Given the description of an element on the screen output the (x, y) to click on. 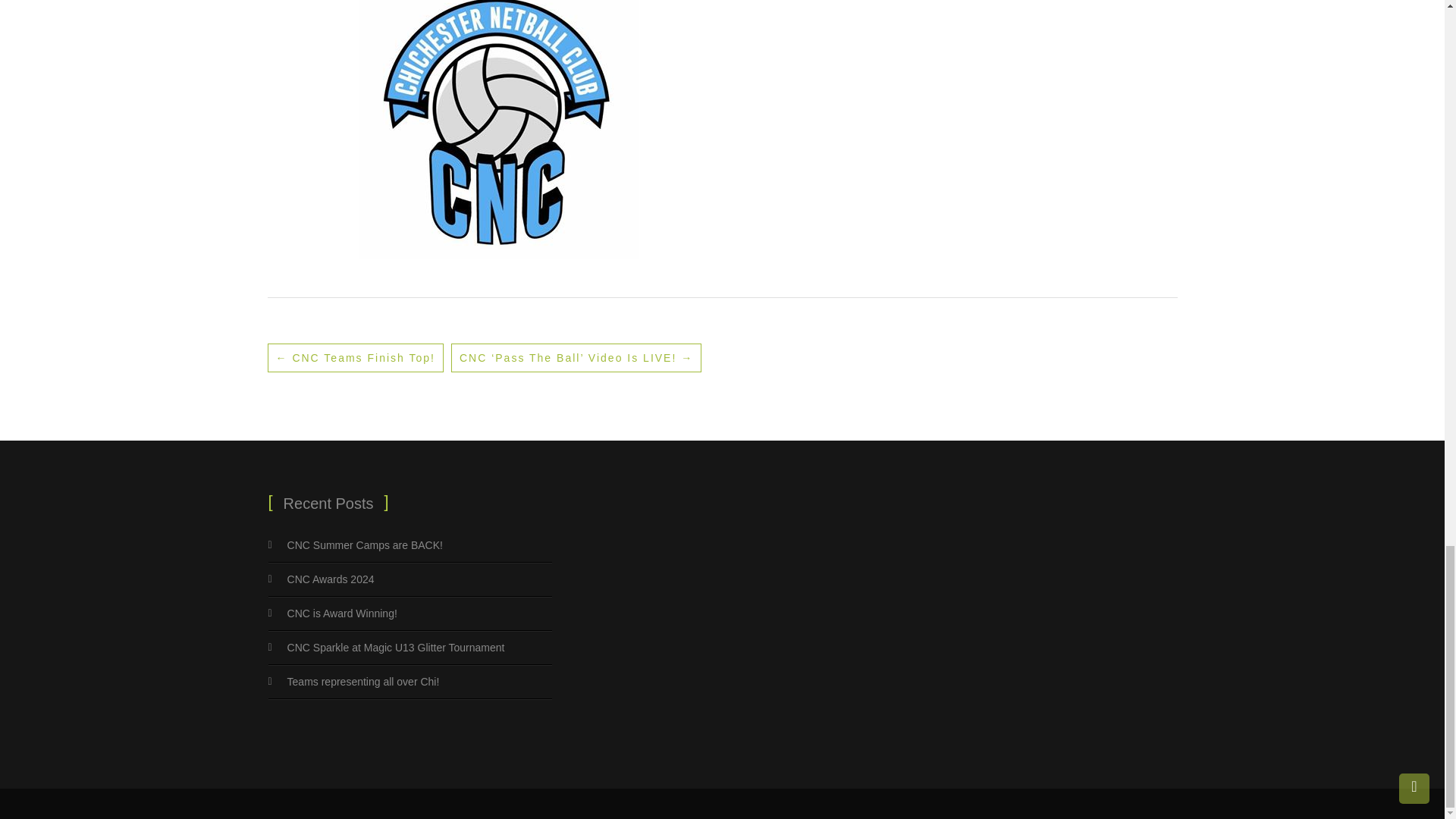
CNC Awards 2024 (330, 579)
CNC Summer Camps are BACK! (364, 544)
CNC Sparkle at Magic U13 Glitter Tournament (395, 647)
CNC is Award Winning! (341, 613)
Teams representing all over Chi! (362, 681)
